Given the description of an element on the screen output the (x, y) to click on. 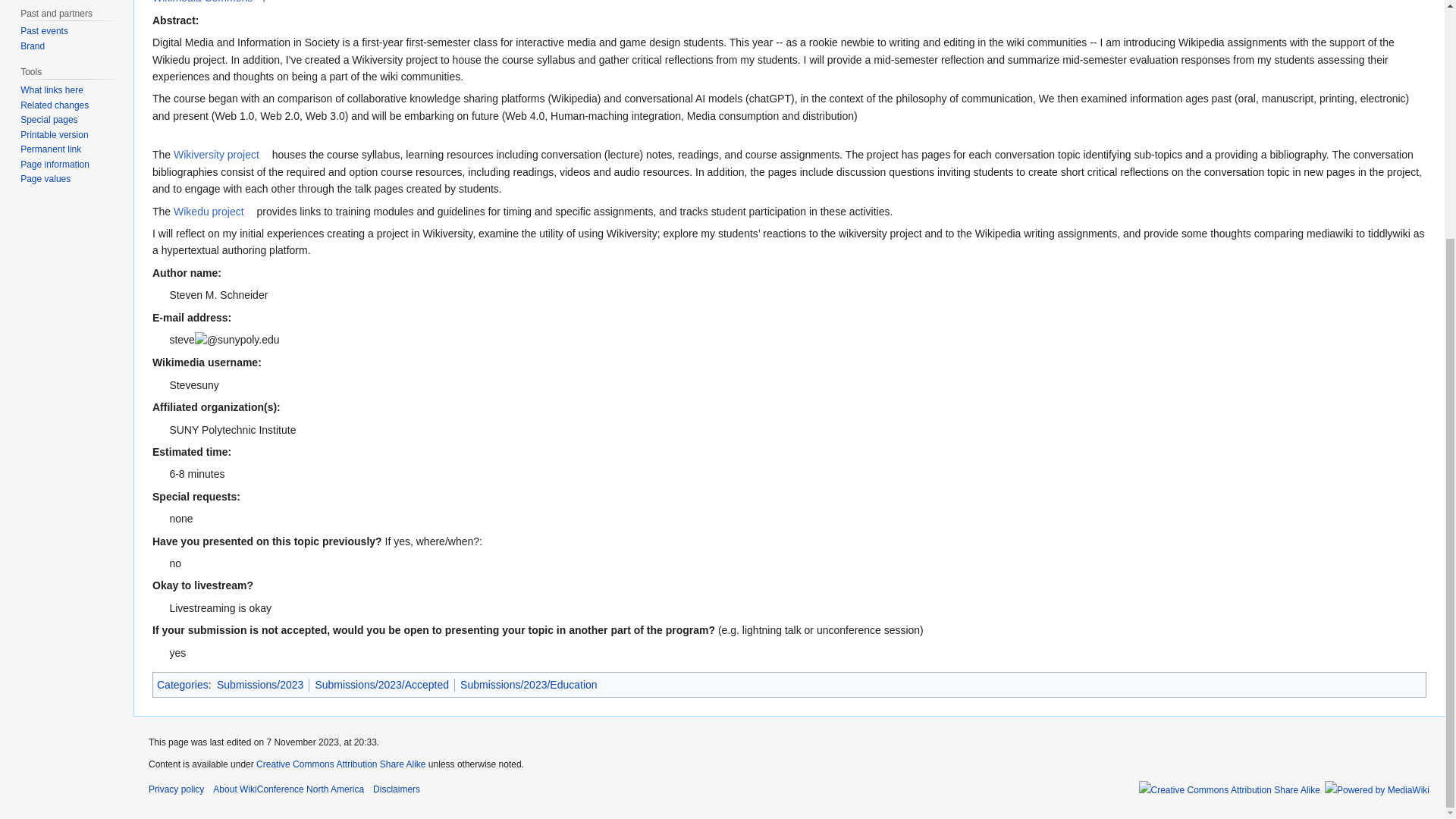
Wikiversity project (221, 154)
Brand (32, 45)
Special:Categories (182, 684)
Wikimedia Commons (207, 2)
Categories (182, 684)
What links here (51, 90)
Past events (44, 30)
Special pages (48, 119)
Wikedu project (213, 211)
Permanent link (50, 149)
Printable version (53, 134)
Related changes (54, 104)
